Given the description of an element on the screen output the (x, y) to click on. 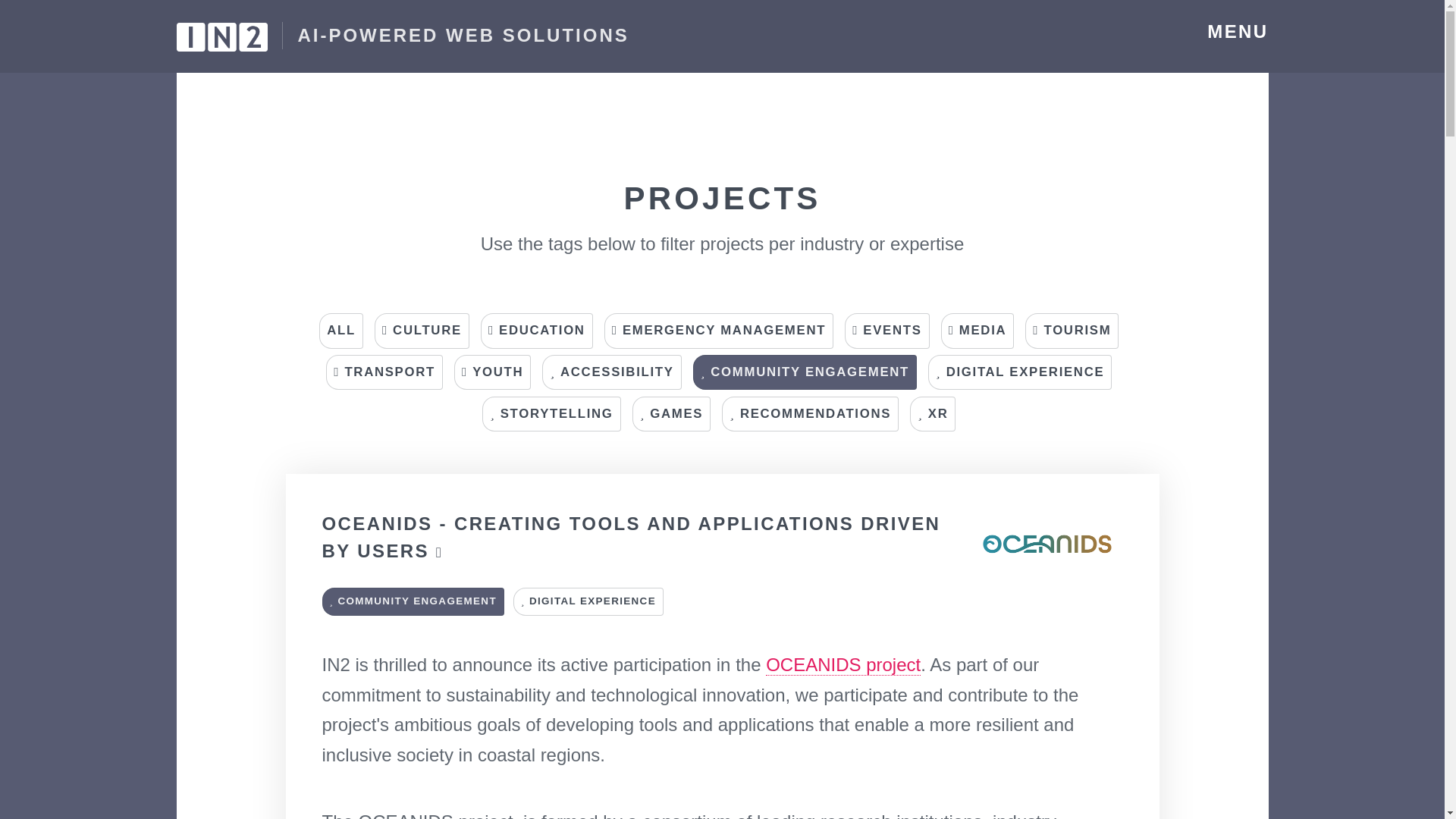
AI-POWERED WEB SOLUTIONS (402, 36)
TRANSPORT (384, 371)
OCEANIDS project (842, 664)
XR (932, 413)
DIGITAL EXPERIENCE (1020, 371)
TOURISM (1071, 330)
EMERGENCY MANAGEMENT (718, 330)
CULTURE (421, 330)
ALL (340, 330)
COMMUNITY ENGAGEMENT (412, 601)
